Given the description of an element on the screen output the (x, y) to click on. 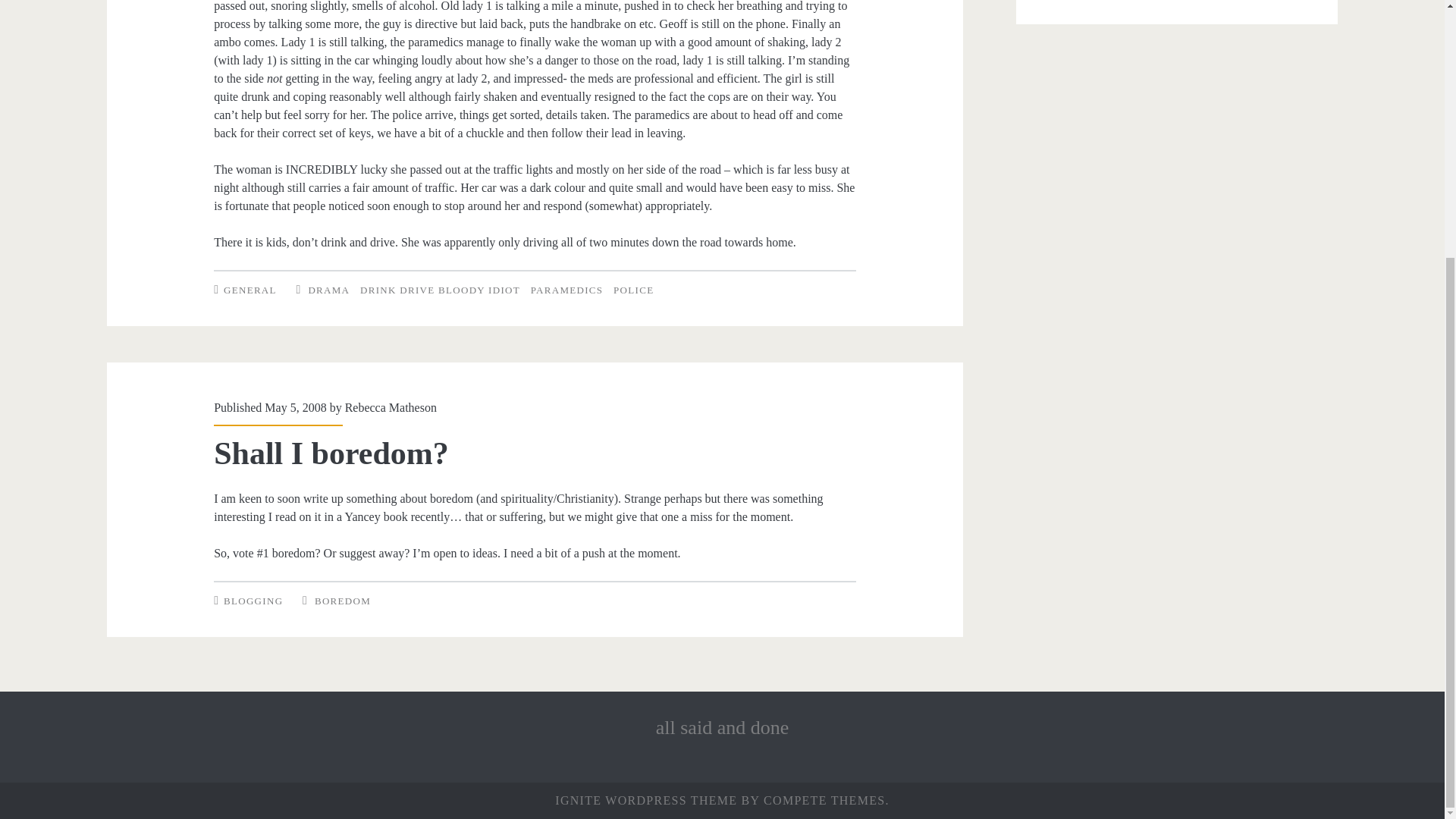
Rebecca Matheson (390, 407)
View all posts tagged drama (328, 289)
DRINK DRIVE BLOODY IDIOT (439, 289)
POLICE (632, 289)
DRAMA (328, 289)
Shall I boredom? (331, 452)
BLOGGING (253, 600)
View all posts in General (250, 289)
View all posts in Blogging (253, 600)
View all posts tagged boredom (342, 600)
IGNITE WORDPRESS THEME (645, 799)
Posts by Rebecca Matheson (390, 407)
View all posts tagged police (632, 289)
BOREDOM (342, 600)
View all posts tagged drink drive bloody idiot (439, 289)
